Given the description of an element on the screen output the (x, y) to click on. 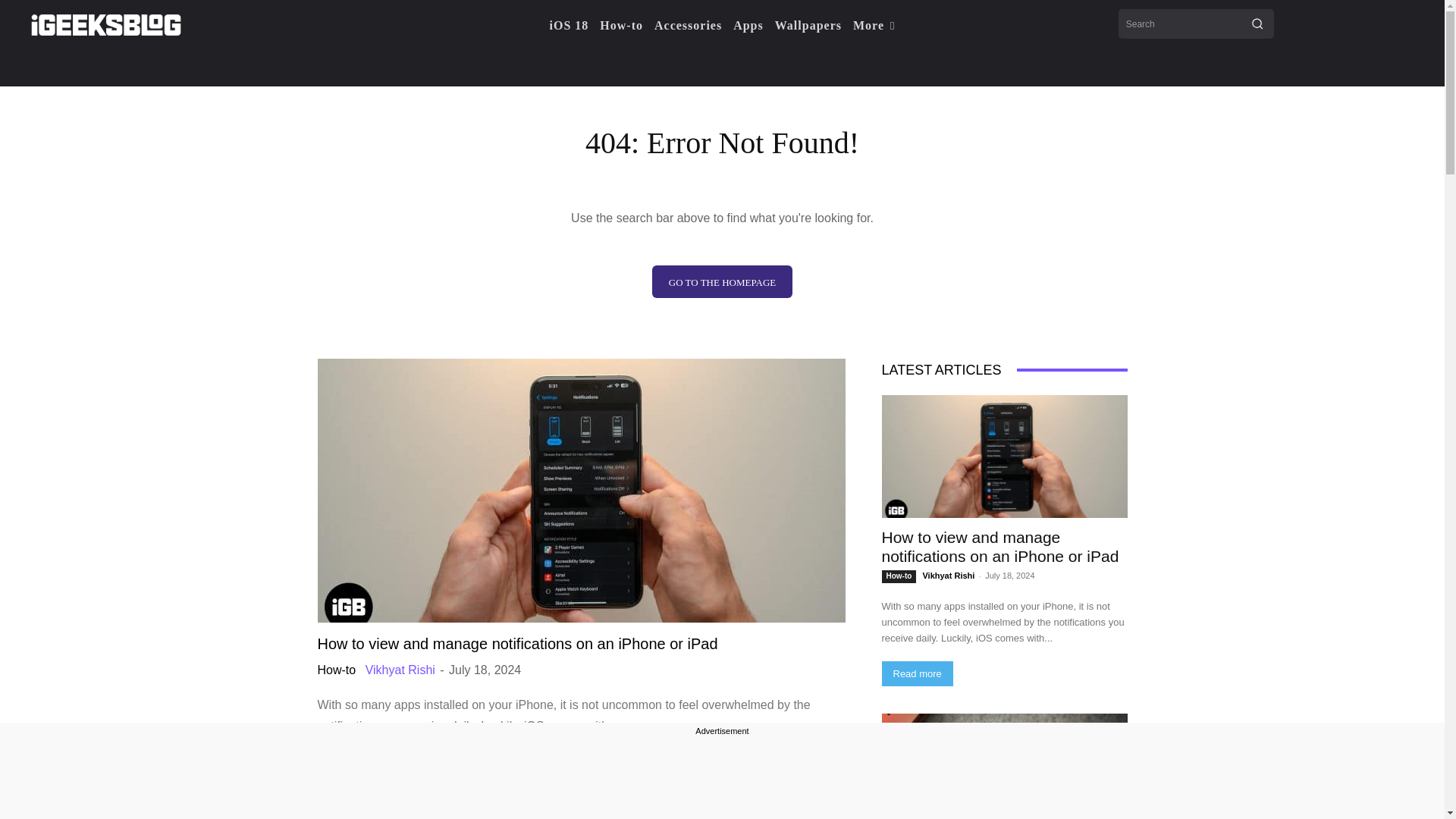
Go to the homepage (722, 281)
GO TO THE HOMEPAGE (722, 281)
How-to (621, 25)
Wallpapers (807, 25)
iOS 18 (569, 25)
How to view and manage notifications on an iPhone or iPad (517, 643)
Accessories (687, 25)
Vikhyat Rishi (400, 669)
More (874, 25)
How-to (336, 669)
How to view and manage notifications on an iPhone or iPad (517, 643)
